Given the description of an element on the screen output the (x, y) to click on. 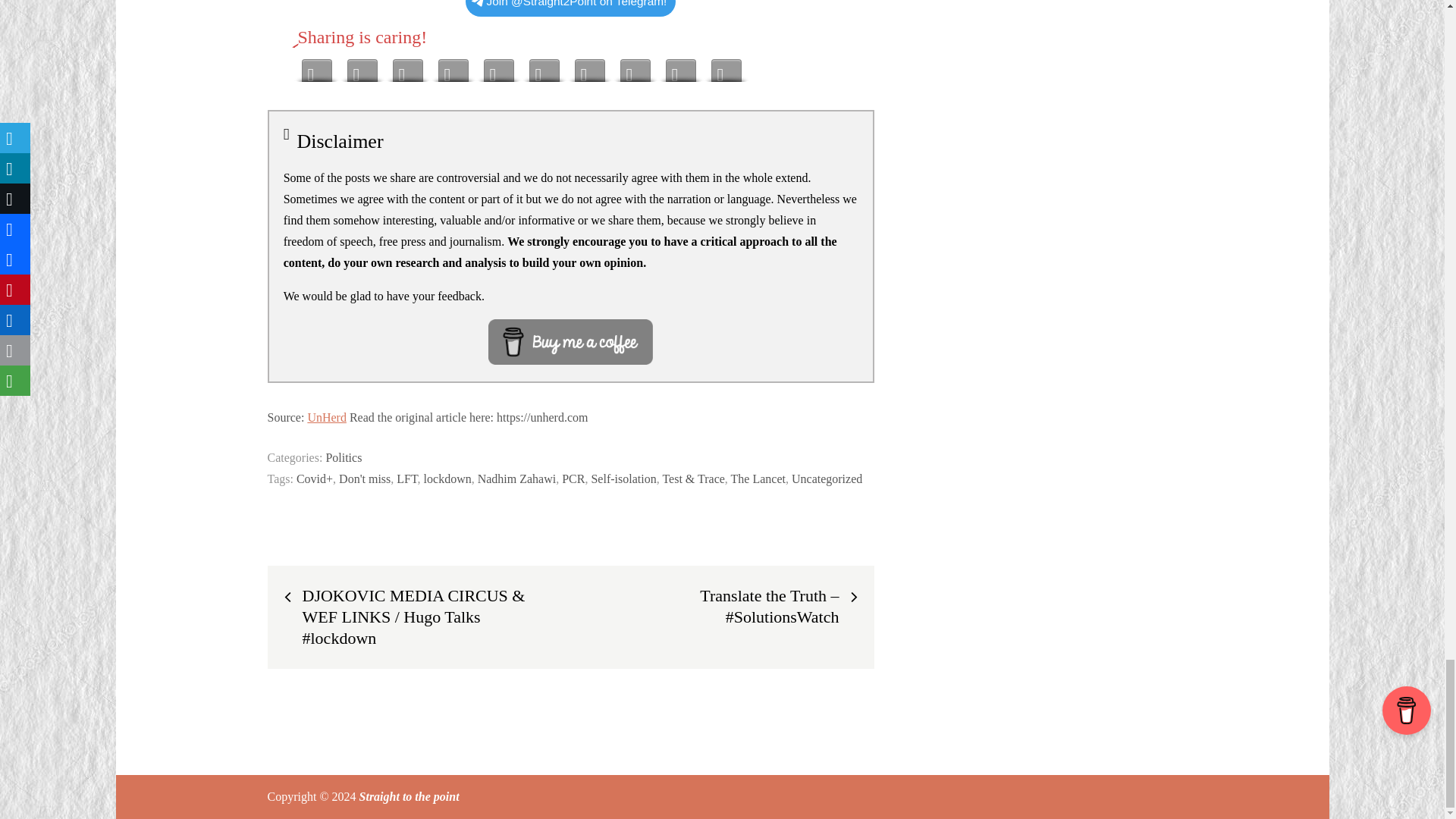
Facebook (407, 66)
LinkedIn (589, 66)
More Options (726, 66)
Parler (498, 66)
Email This (635, 66)
Telegram (316, 66)
PrintFriendly (680, 66)
Facebook Messenger (453, 66)
MeWe (362, 66)
